Given the description of an element on the screen output the (x, y) to click on. 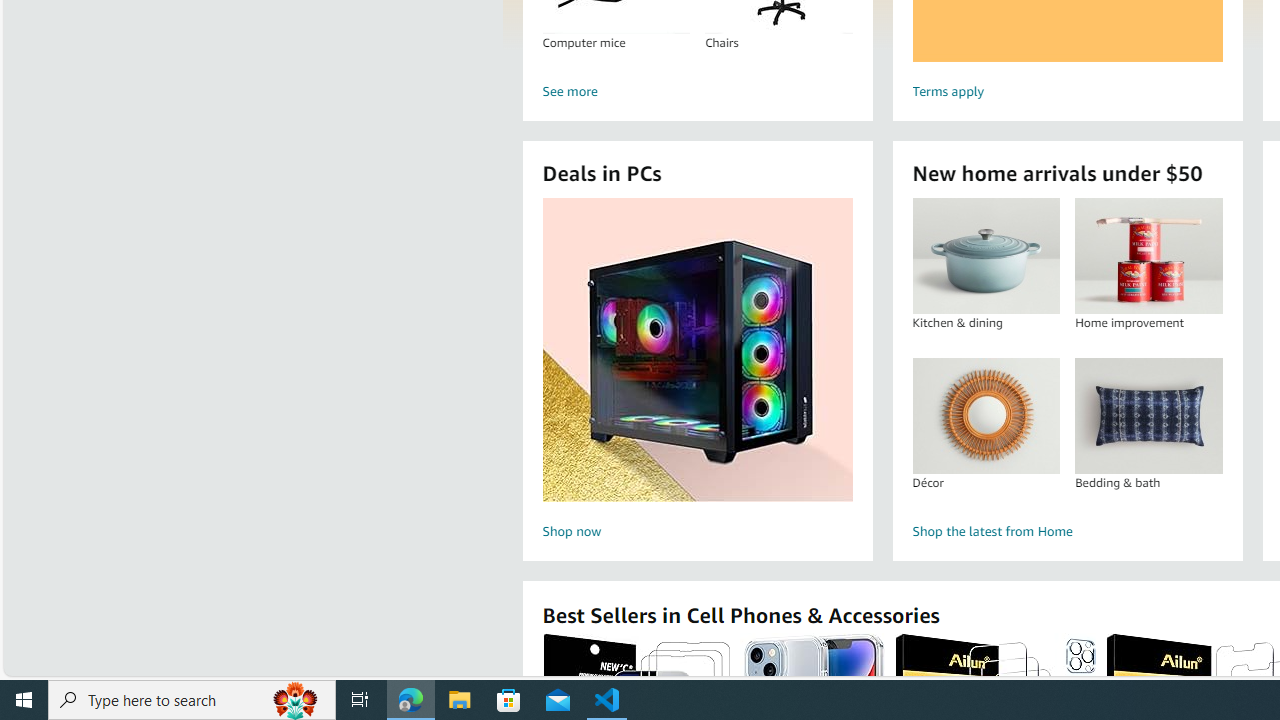
Home improvement (1148, 256)
Deals in PCs (697, 349)
Kitchen & dining (986, 256)
Deals in PCs Shop now (697, 371)
Bedding & bath (1148, 415)
Bedding & bath (1148, 415)
Home improvement (1148, 256)
Shop the latest from Home (1066, 532)
Kitchen & dining (985, 256)
